Given the description of an element on the screen output the (x, y) to click on. 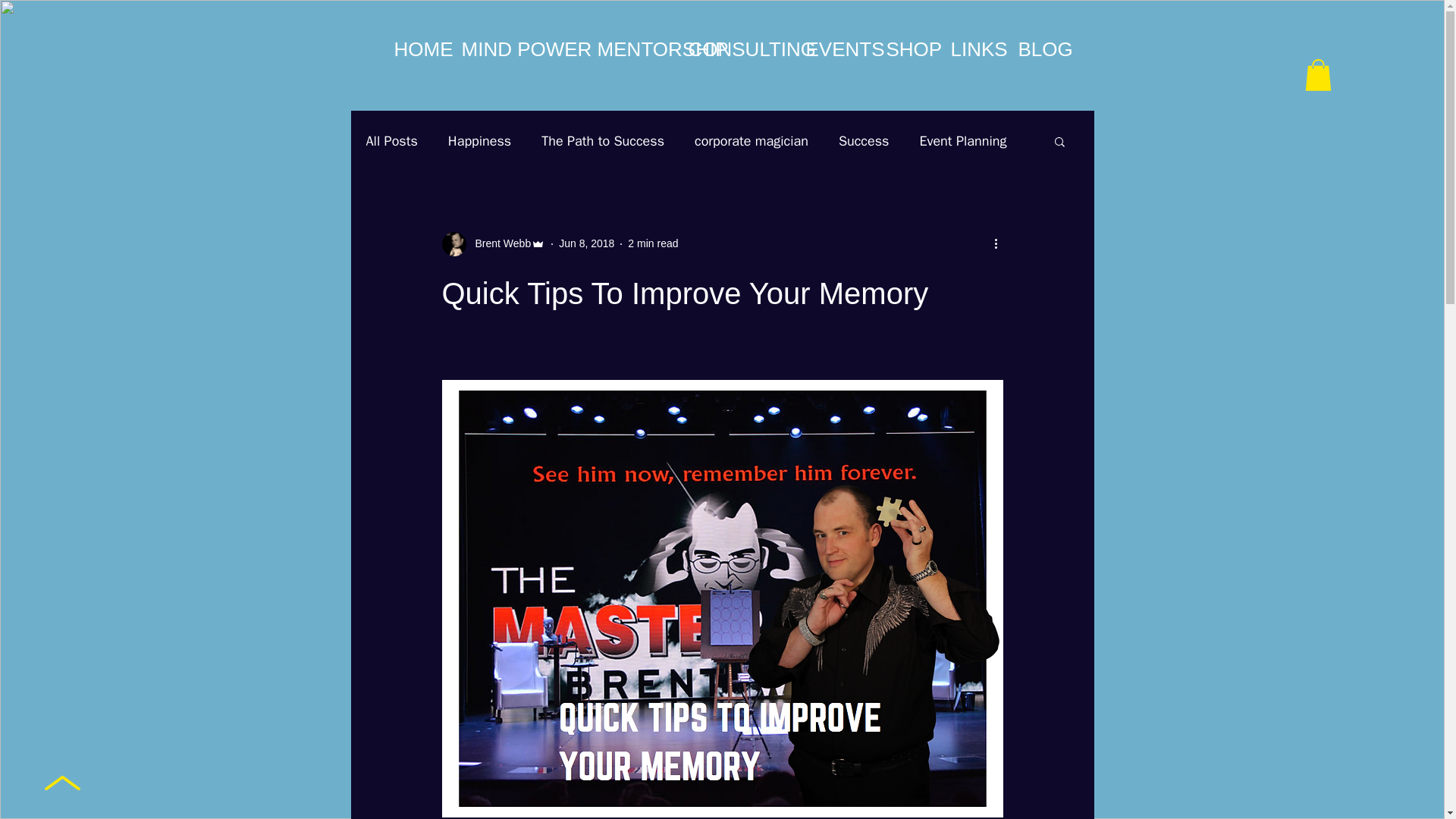
BLOG (1037, 49)
All Posts (390, 140)
Jun 8, 2018 (586, 243)
SHOP (905, 49)
2 min read (652, 243)
The Path to Success (602, 140)
HOME (415, 49)
EVENTS (833, 49)
Brent Webb (498, 243)
MIND POWER MENTORSHIP (561, 49)
